Given the description of an element on the screen output the (x, y) to click on. 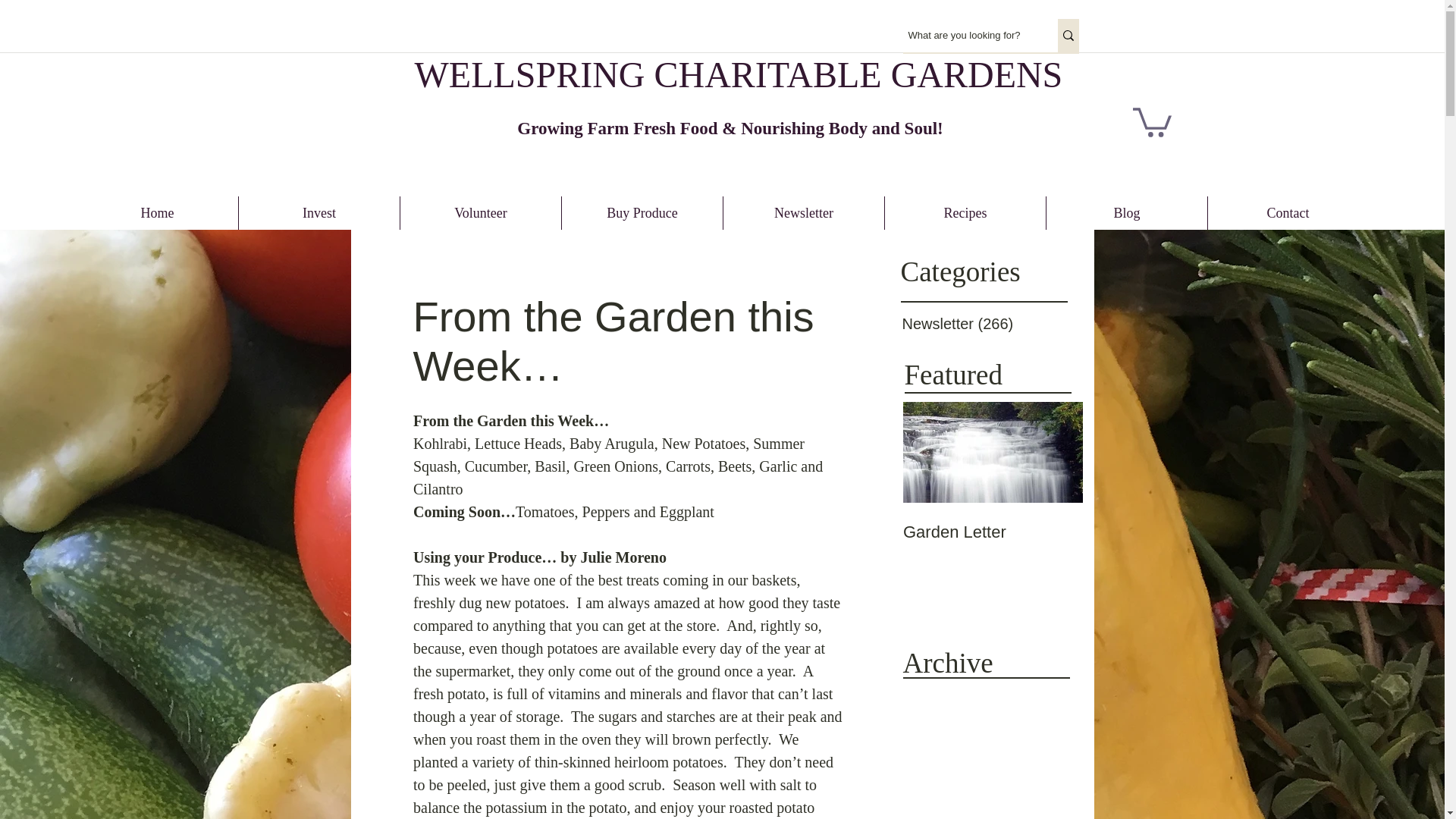
Newsletter (803, 213)
Volunteer (480, 213)
Buy Produce (642, 213)
Home (157, 213)
Blog (1126, 213)
Contact (1288, 213)
Recipes (965, 213)
Invest (318, 213)
Garden Letter (991, 532)
